Given the description of an element on the screen output the (x, y) to click on. 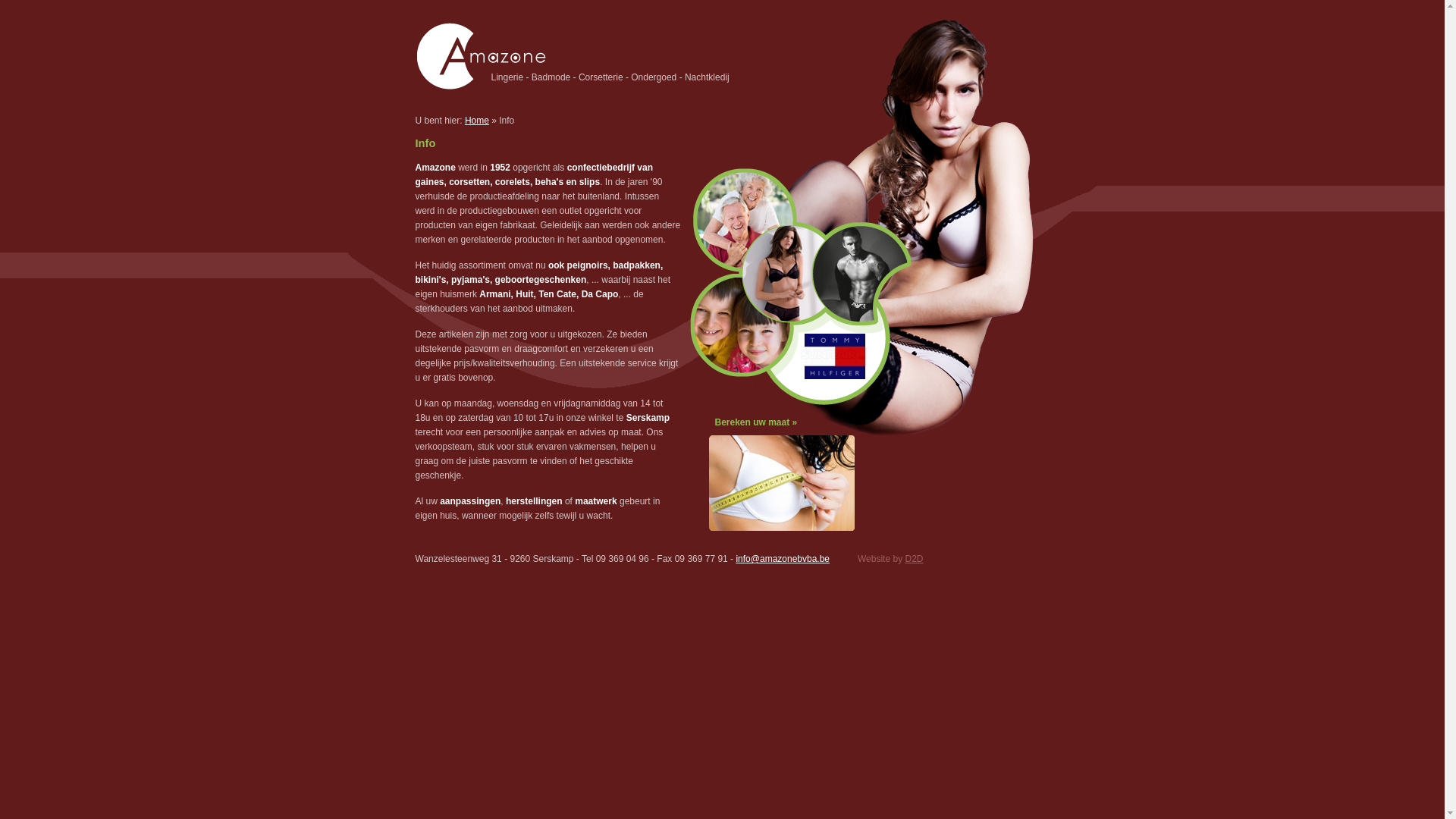
Bereken uw maat Element type: text (751, 422)
info@amazonebvba.be Element type: text (782, 558)
Home Element type: text (476, 120)
D2D Element type: text (913, 558)
Startpagina Amazone bvba Element type: hover (480, 86)
Bereken uw maat met deze handige calculator Element type: hover (780, 527)
